Given the description of an element on the screen output the (x, y) to click on. 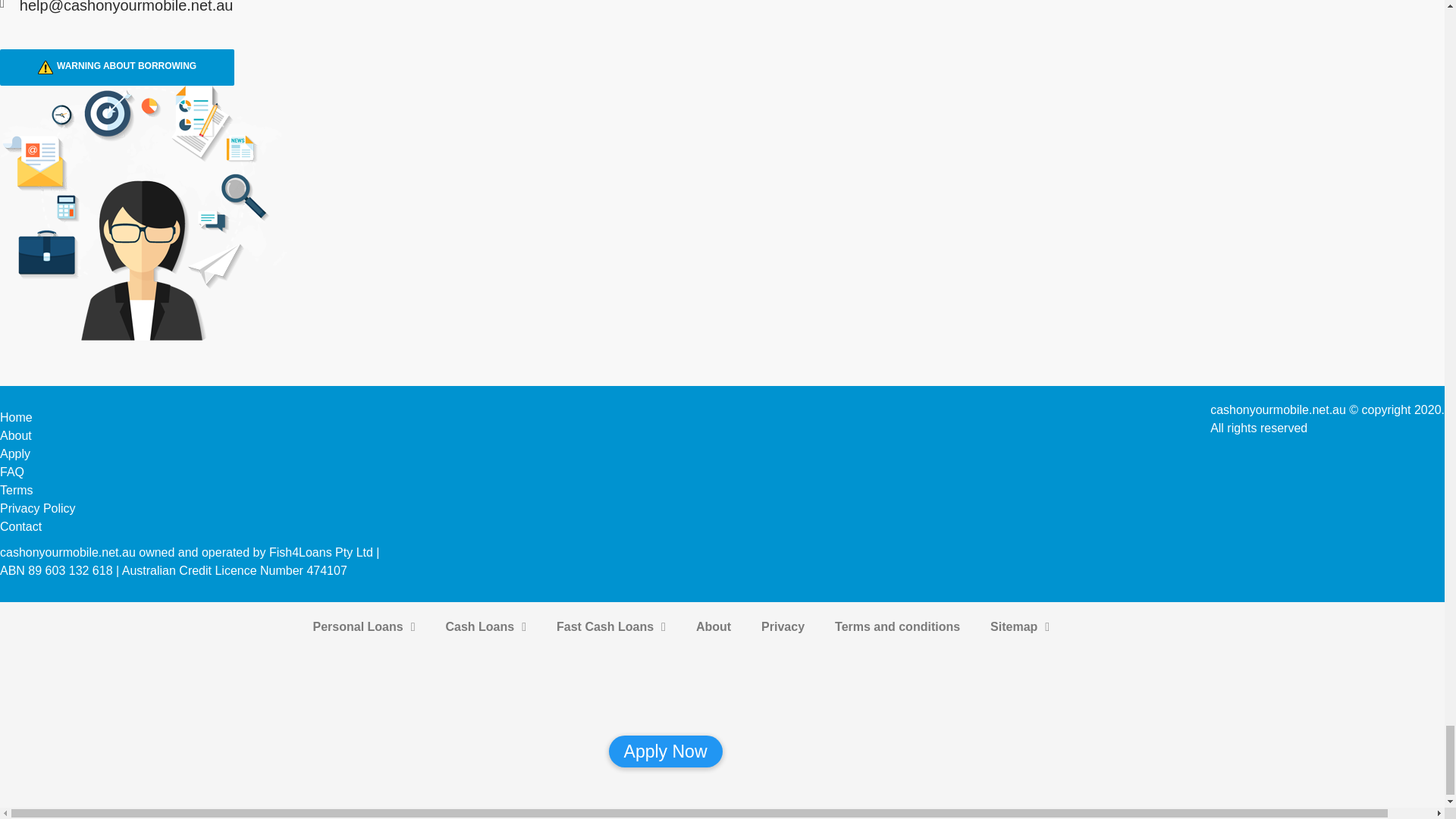
Personal Loans (363, 626)
WARNING ABOUT BORROWING (117, 67)
Contact (21, 526)
Privacy Policy (37, 508)
Home (16, 417)
Apply (15, 453)
FAQ (12, 472)
About (16, 435)
Cash Loans (485, 626)
Terms (16, 490)
